Given the description of an element on the screen output the (x, y) to click on. 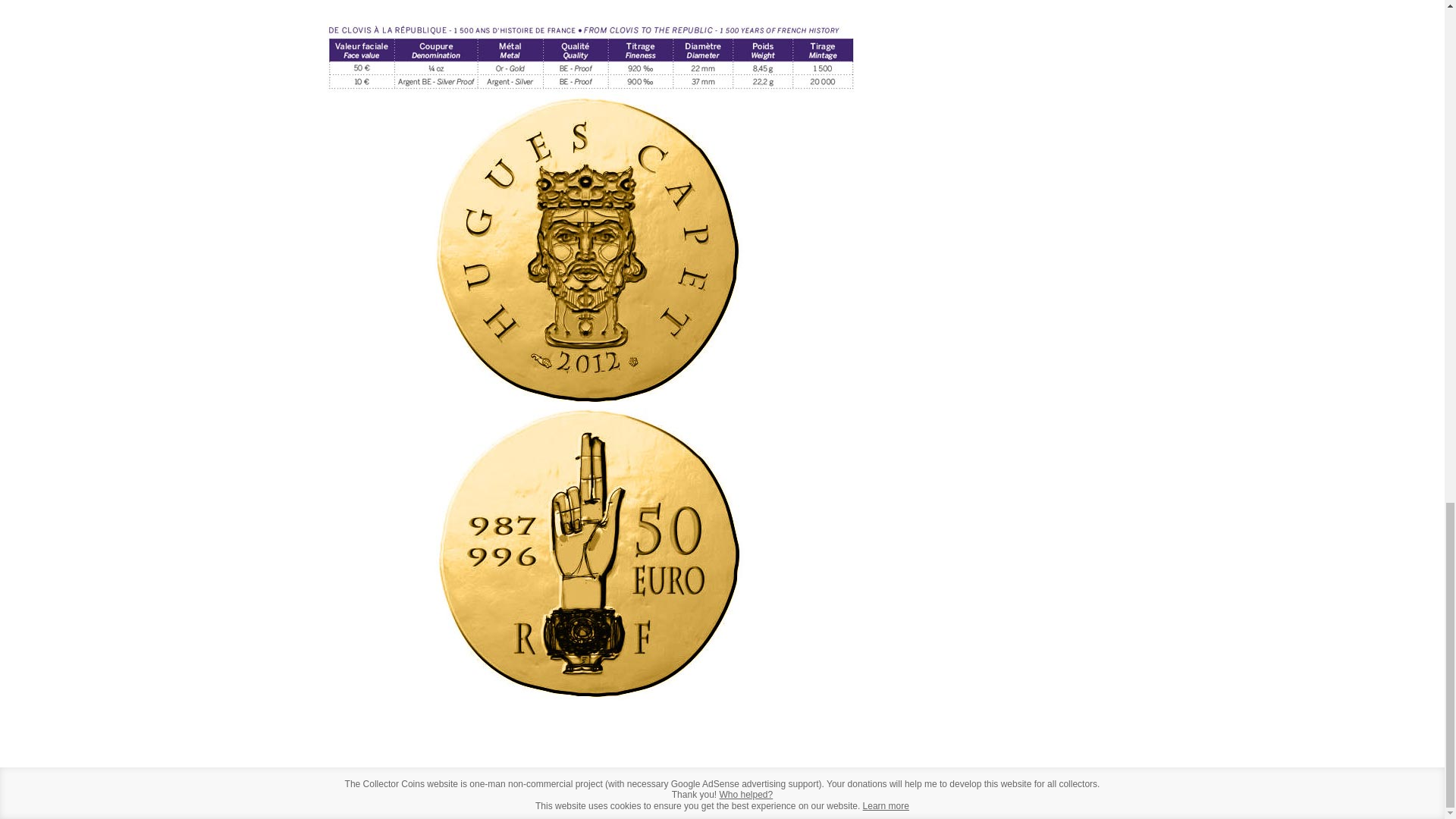
Who helped? (746, 794)
Learn more (885, 805)
